Given the description of an element on the screen output the (x, y) to click on. 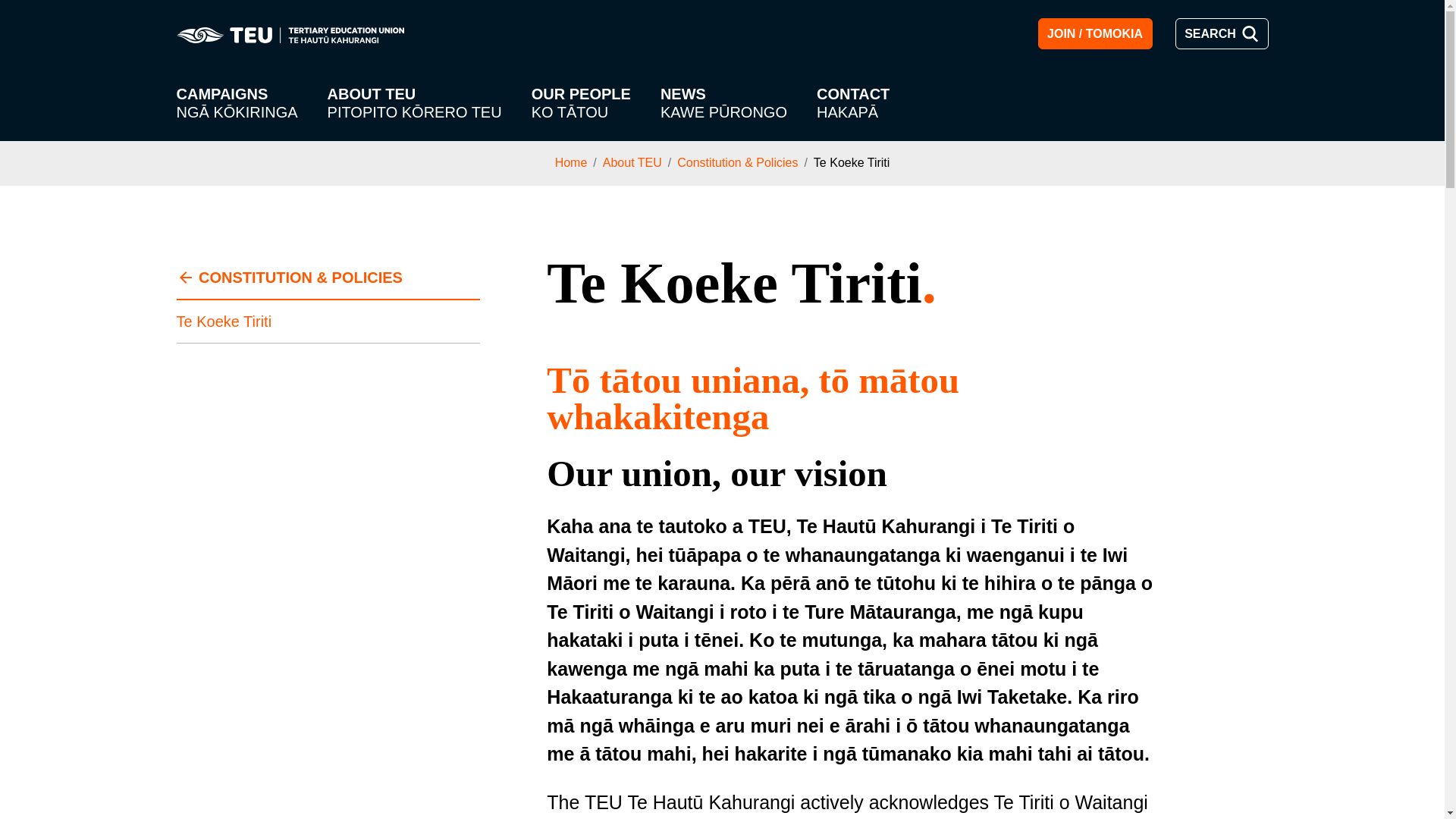
SEARCH (1221, 33)
